Given the description of an element on the screen output the (x, y) to click on. 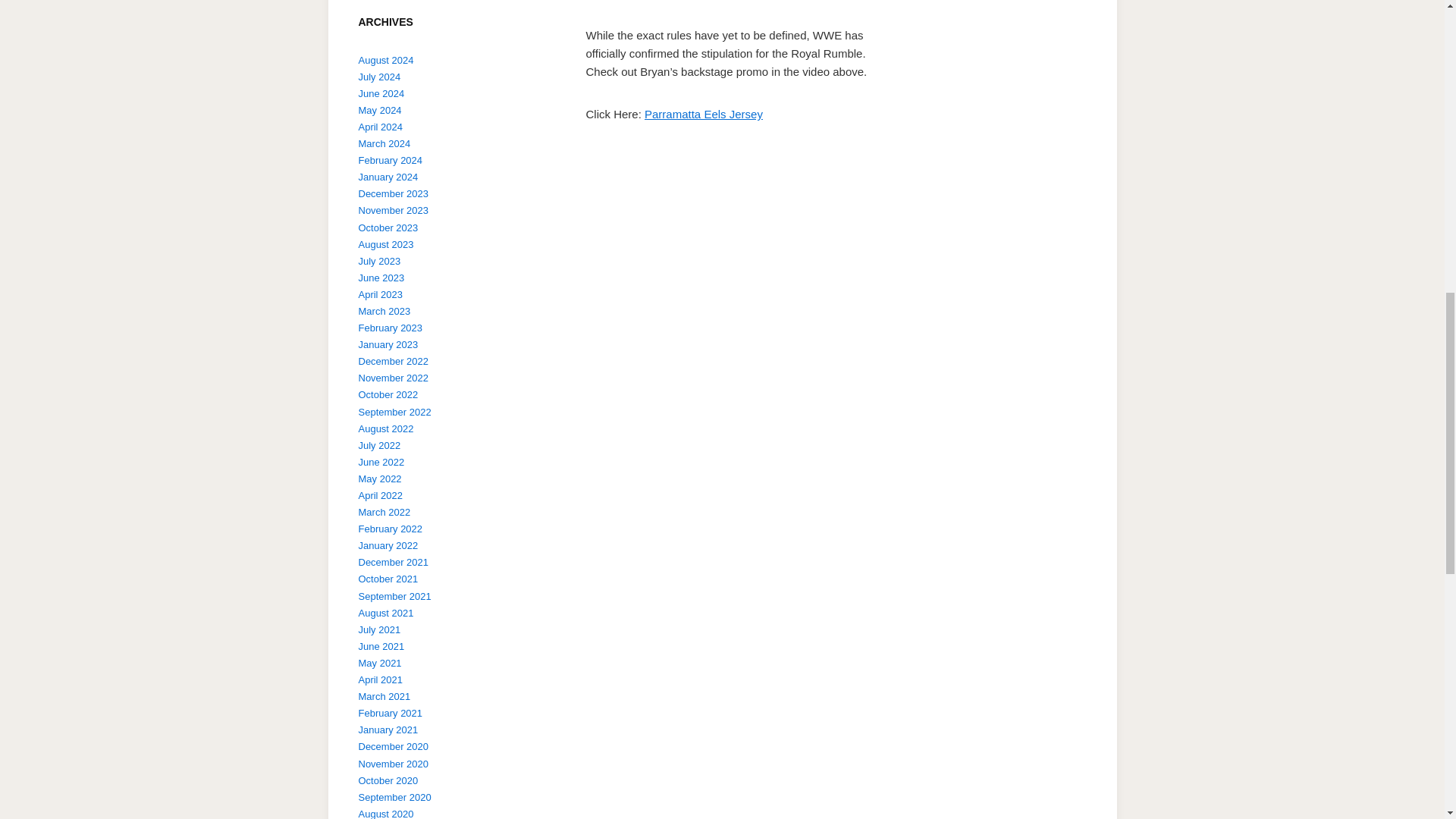
July 2024 (379, 76)
August 2024 (385, 60)
Parramatta Eels Jersey (703, 113)
